Given the description of an element on the screen output the (x, y) to click on. 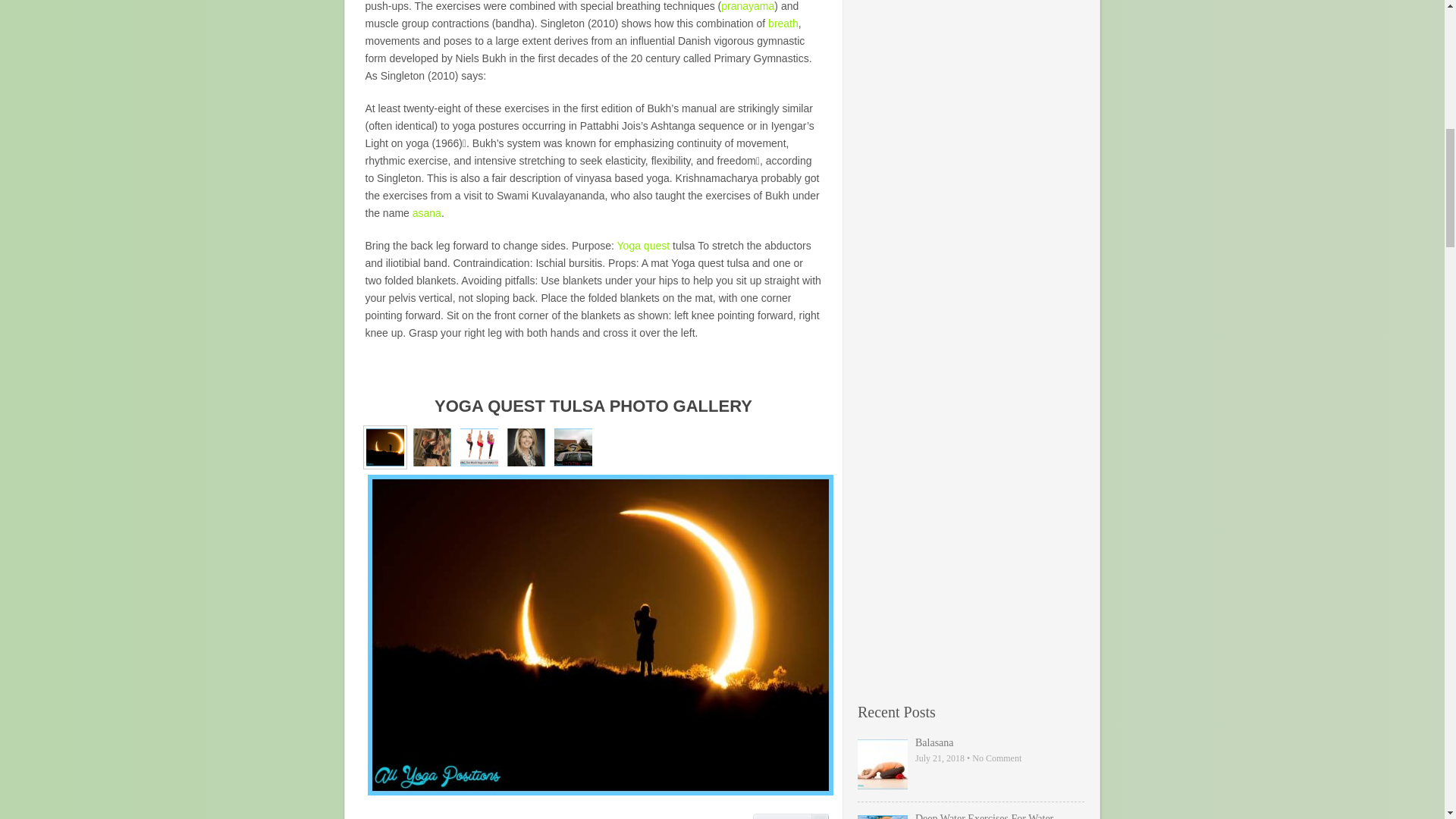
Advertisement (970, 412)
breath (782, 23)
pranayama (747, 6)
asana (426, 213)
Yoga quest (643, 245)
